Given the description of an element on the screen output the (x, y) to click on. 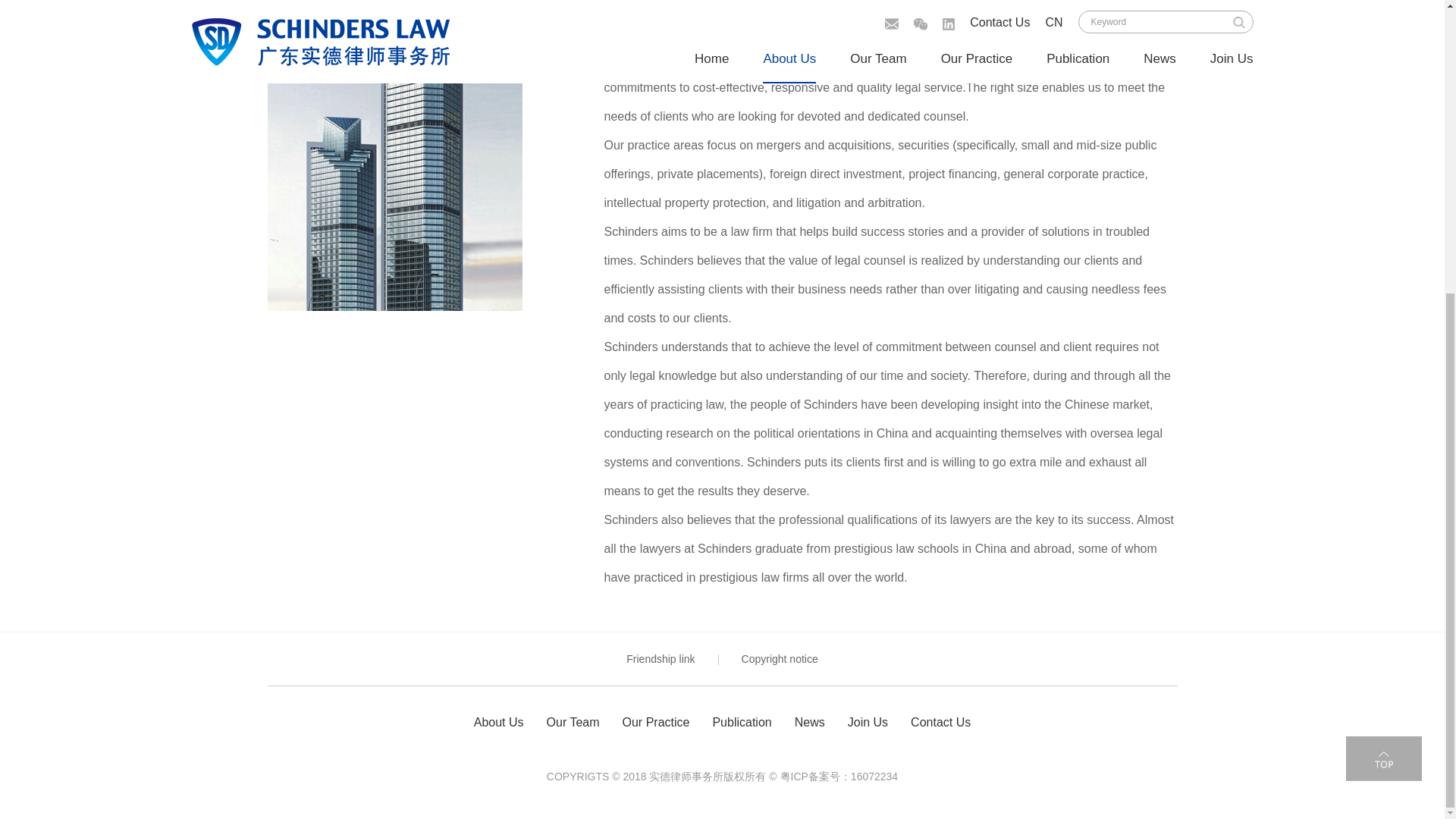
News (809, 722)
Contact Us (941, 722)
Publication (741, 722)
Our Team (573, 722)
Copyright notice (779, 658)
Join Us (867, 722)
Our Practice (656, 722)
Friendship link (660, 658)
About Us (499, 722)
